Given the description of an element on the screen output the (x, y) to click on. 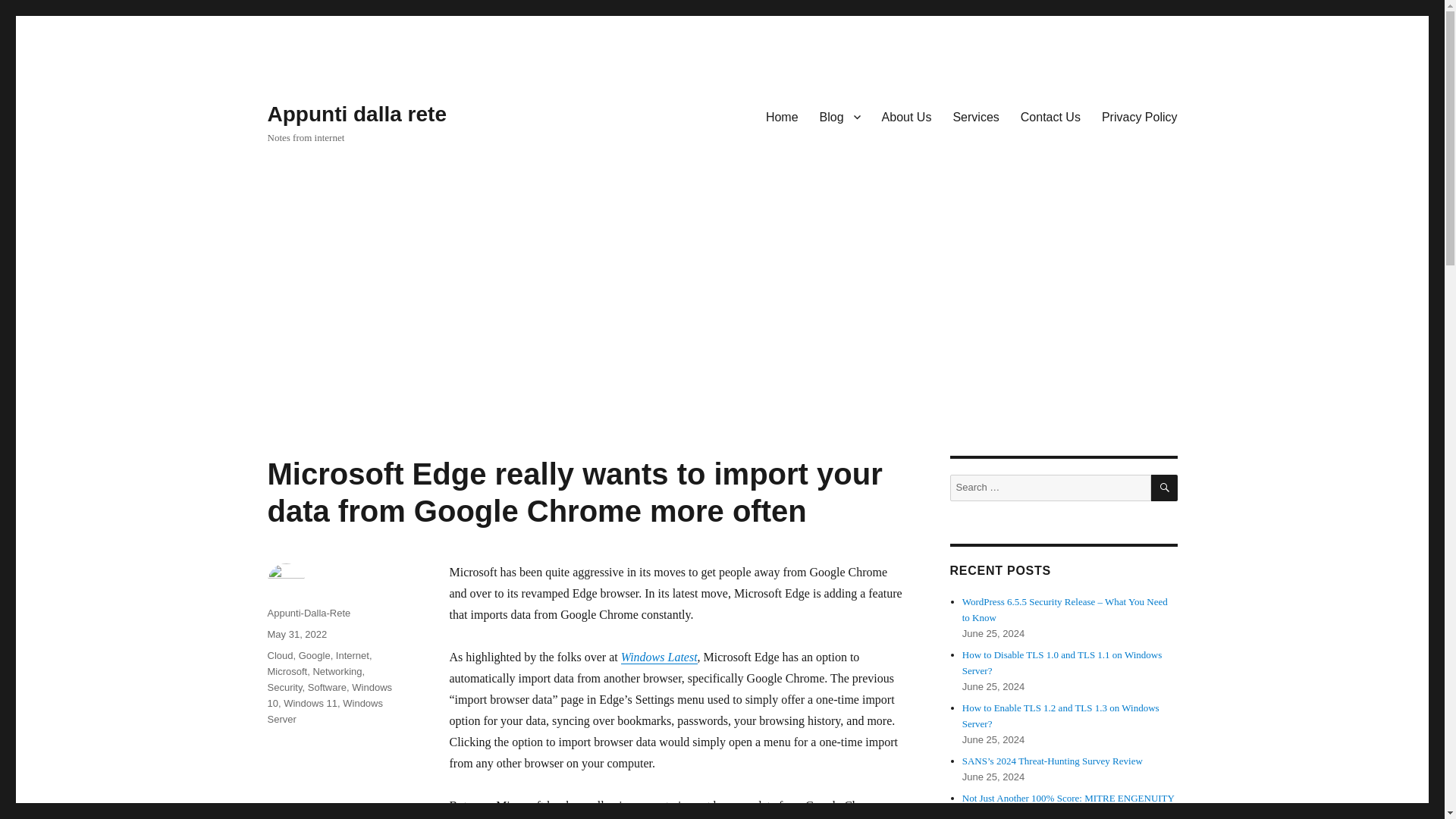
Privacy Policy (1139, 116)
Appunti-Dalla-Rete (308, 613)
Services (975, 116)
Google (314, 655)
Blog (839, 116)
May 31, 2022 (296, 633)
Cloud (279, 655)
Appunti dalla rete (355, 114)
About Us (906, 116)
Home (782, 116)
